Given the description of an element on the screen output the (x, y) to click on. 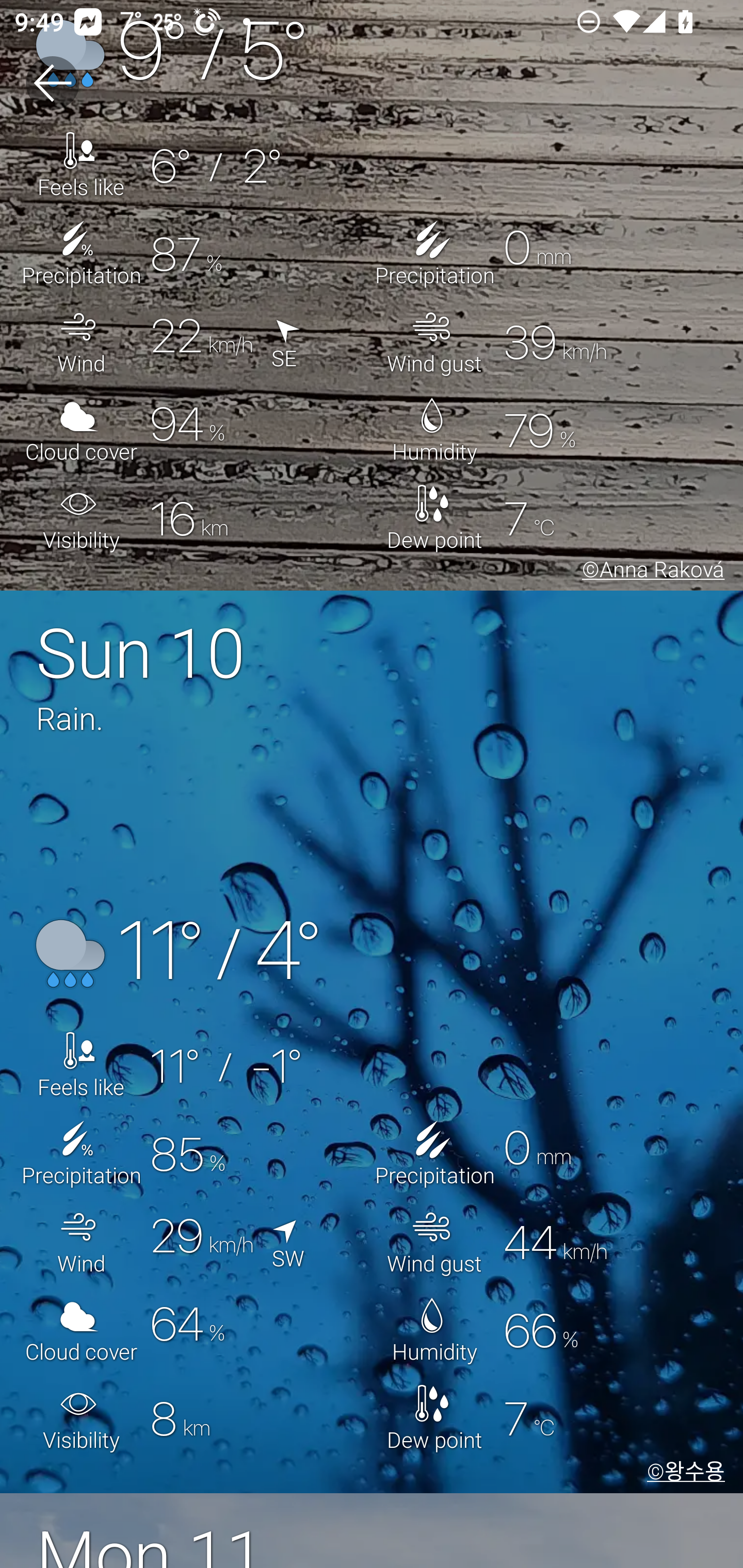
©Anna Raková (650, 572)
©왕수용 (682, 1472)
